Given the description of an element on the screen output the (x, y) to click on. 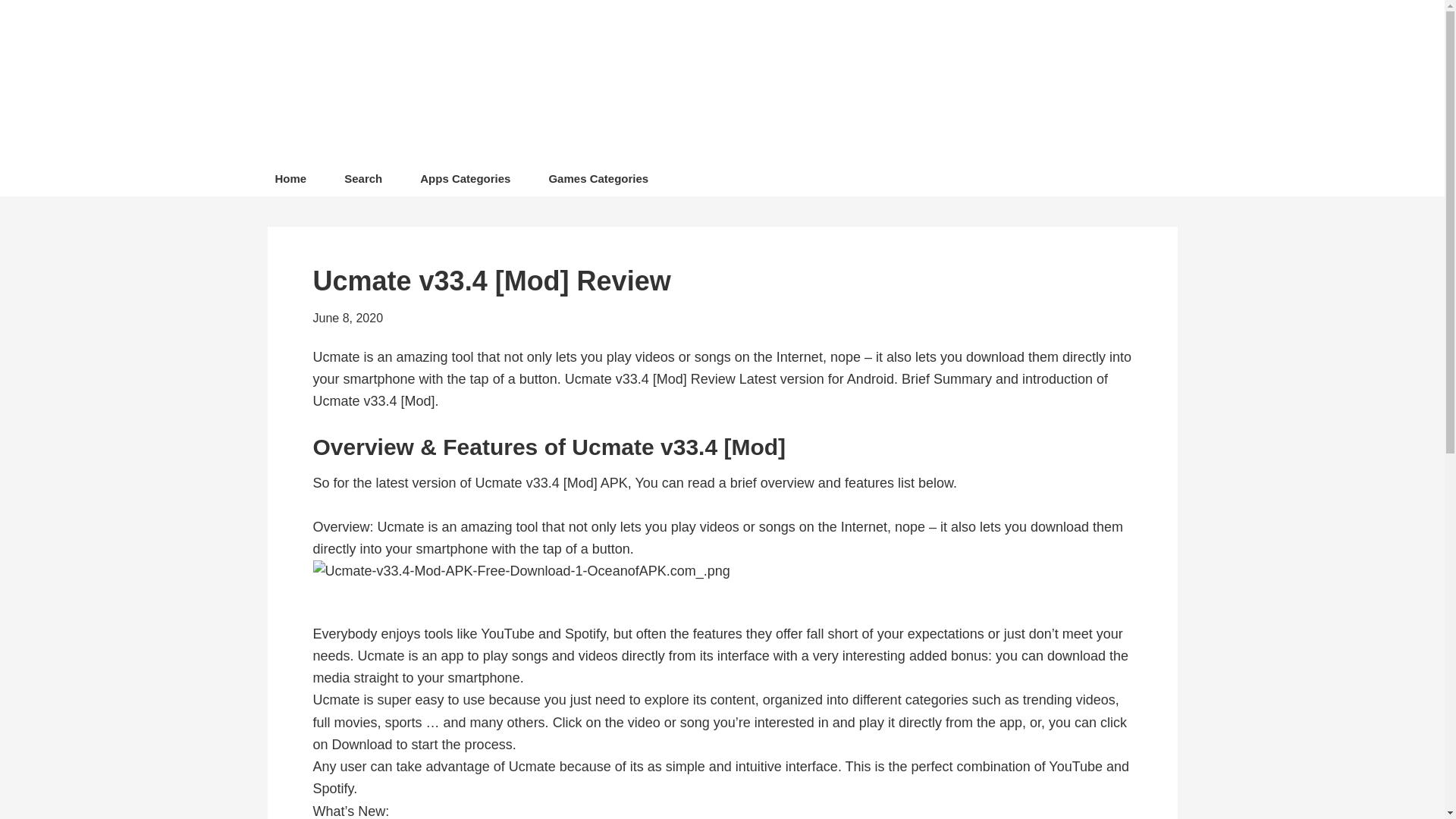
Learn Everything (698, 82)
Learn Everything (698, 82)
Apps Categories (465, 181)
Home (290, 181)
Games Categories (598, 181)
Search (363, 181)
